Given the description of an element on the screen output the (x, y) to click on. 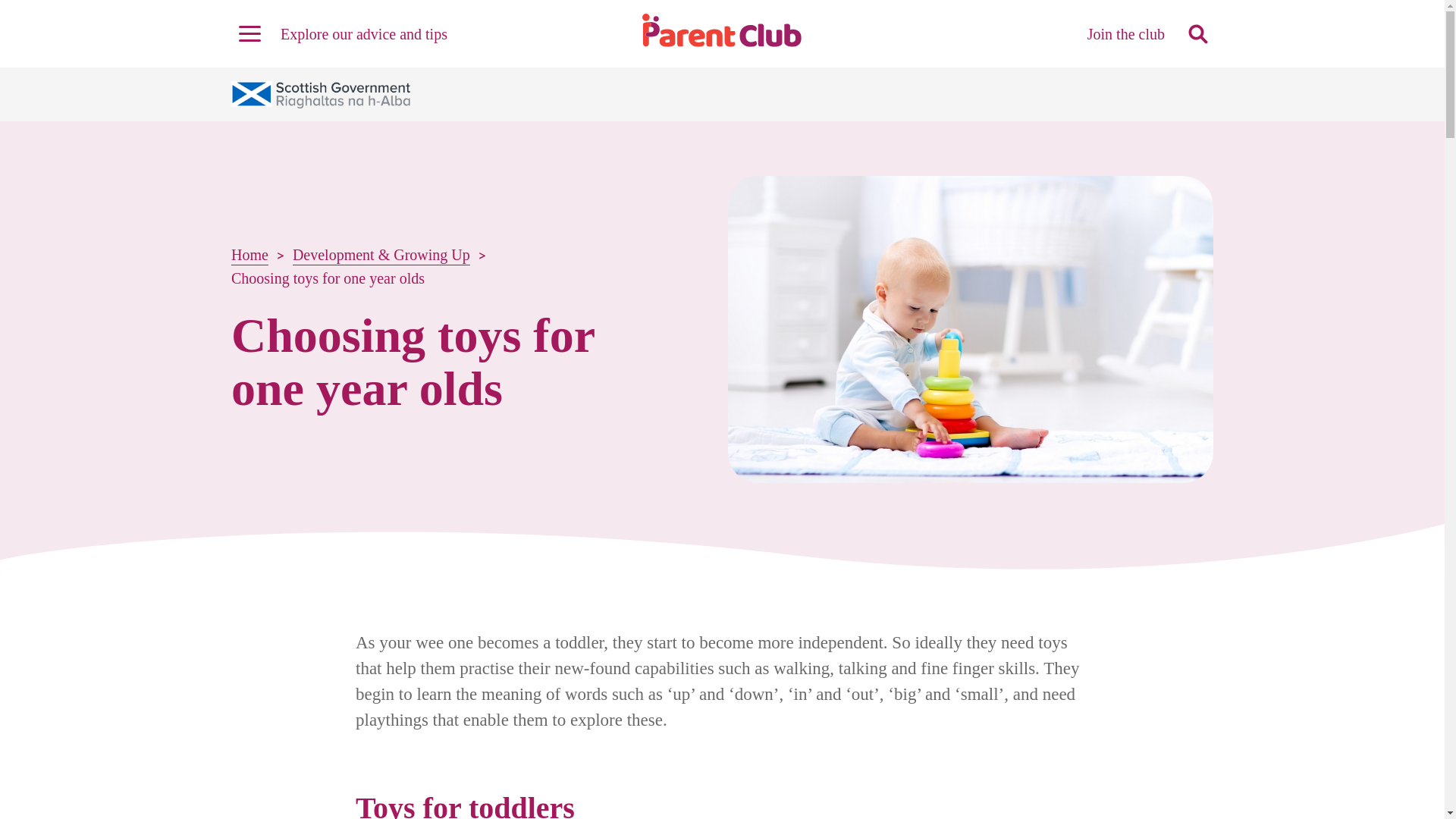
Home (249, 254)
Explore our advice and tips (338, 33)
Search (1197, 9)
Join the club (1125, 33)
